Given the description of an element on the screen output the (x, y) to click on. 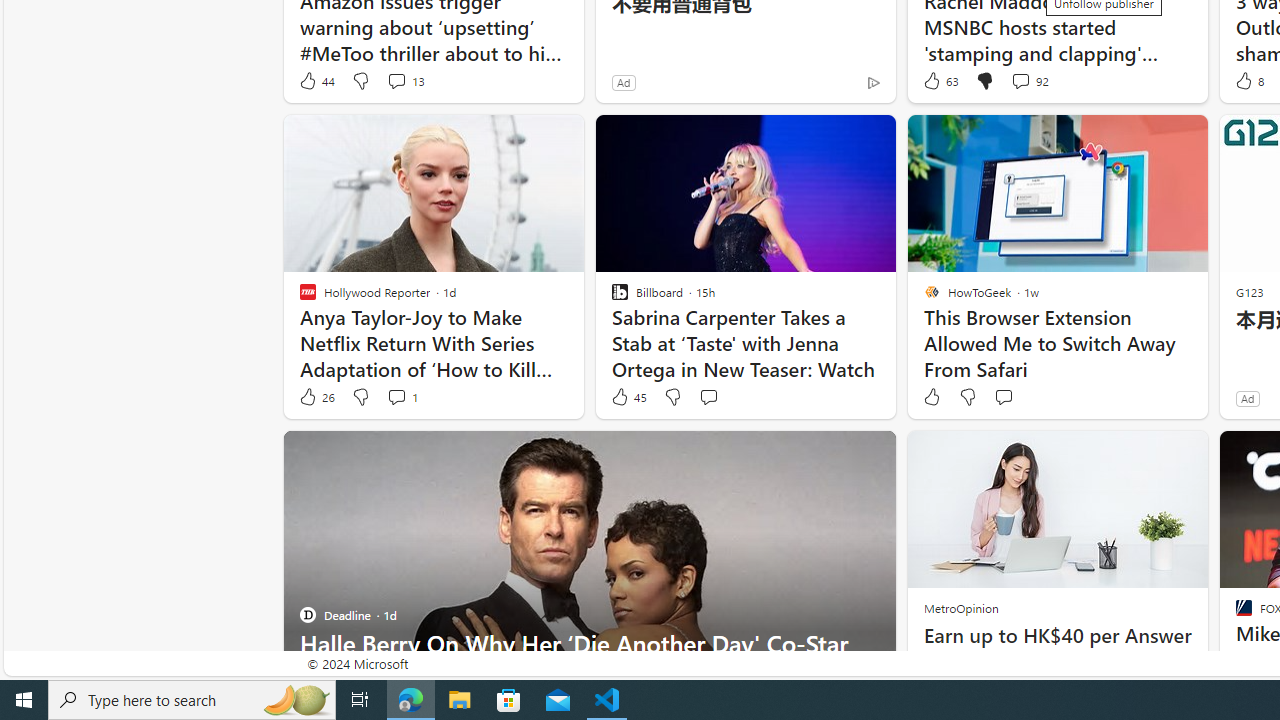
View comments 13 Comment (404, 80)
See more (871, 454)
8 Like (1248, 80)
63 Like (939, 80)
Hide this story (835, 454)
View comments 92 Comment (1019, 80)
Start the conversation (1003, 396)
Dislike (966, 397)
G123 (1249, 291)
26 Like (316, 397)
View comments 92 Comment (1029, 80)
44 Like (316, 80)
View comments 13 Comment (396, 80)
Start the conversation (1003, 397)
45 Like (628, 397)
